Given the description of an element on the screen output the (x, y) to click on. 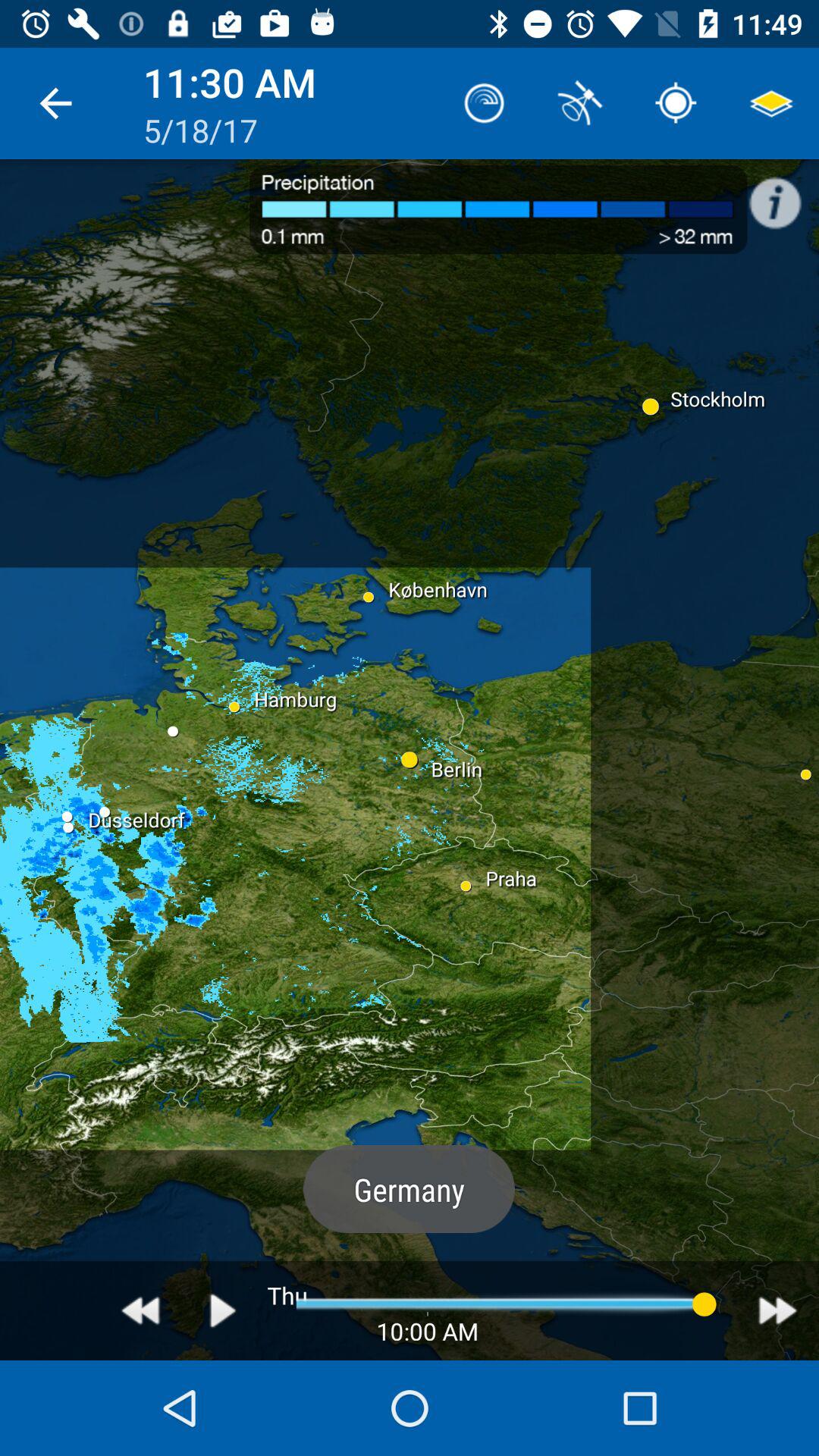
look up info (783, 194)
